Given the description of an element on the screen output the (x, y) to click on. 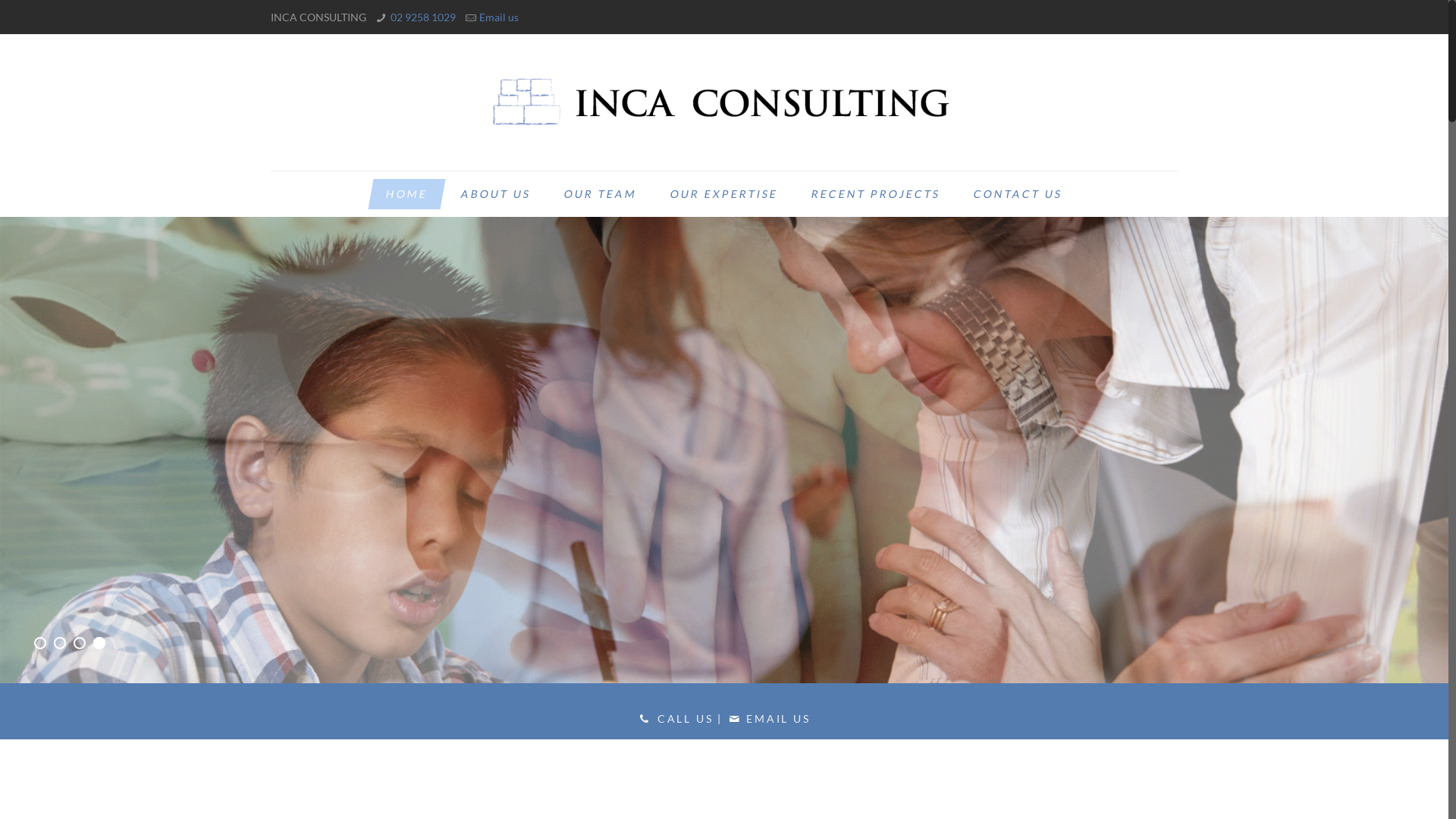
ABOUT US Element type: text (492, 193)
CONTACT US Element type: text (1014, 193)
CALL US Element type: text (685, 718)
HOME Element type: text (403, 193)
RECENT PROJECTS Element type: text (872, 193)
OUR EXPERTISE Element type: text (721, 193)
Inca Consulting Element type: hover (723, 102)
EMAIL US Element type: text (777, 718)
Email us Element type: text (498, 16)
02 9258 1029 Element type: text (422, 16)
OUR TEAM Element type: text (597, 193)
